Given the description of an element on the screen output the (x, y) to click on. 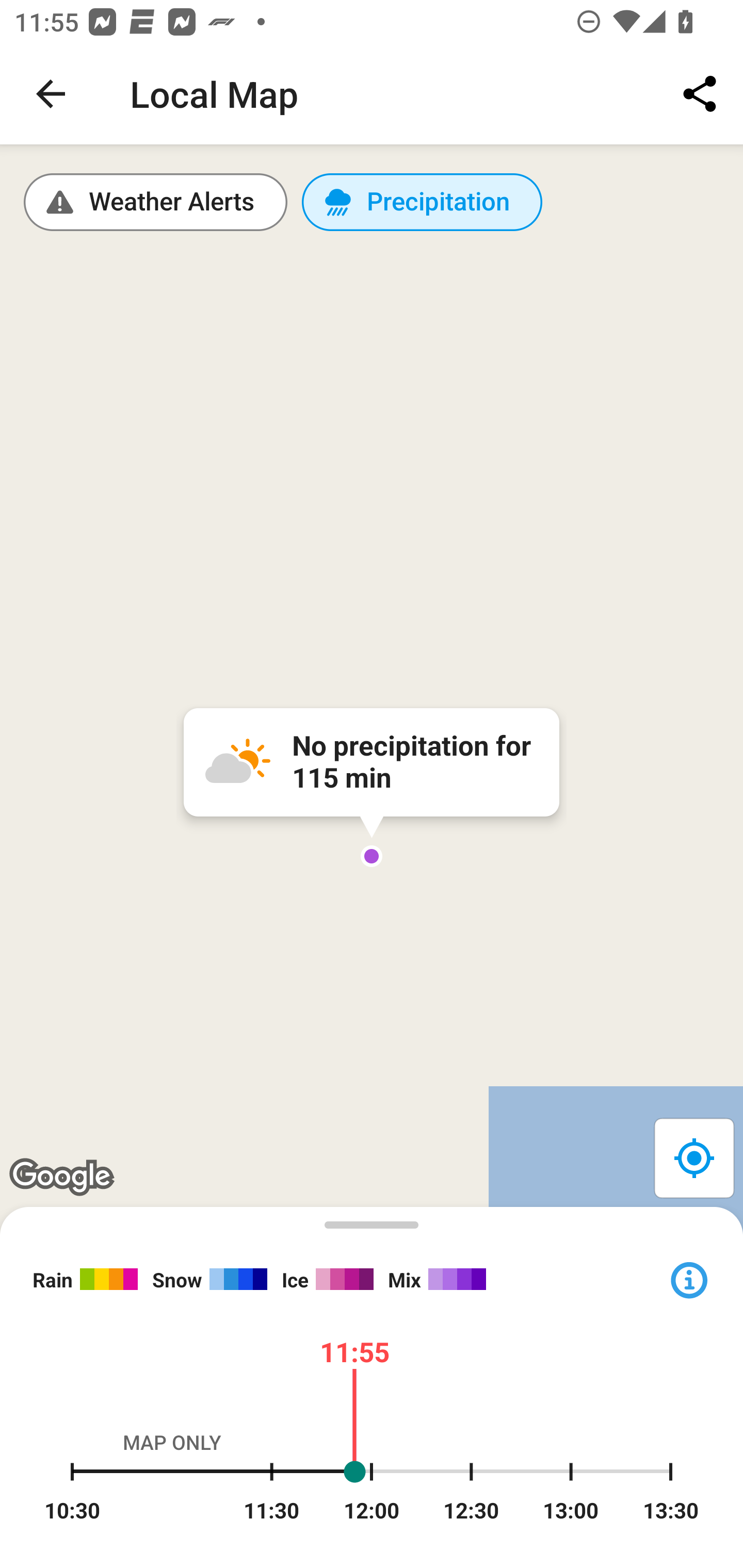
Navigate up (50, 93)
Share (699, 93)
Weather Alerts (155, 202)
Precipitation (421, 202)
My location button (693, 1157)
Map legend info. (688, 1278)
